Given the description of an element on the screen output the (x, y) to click on. 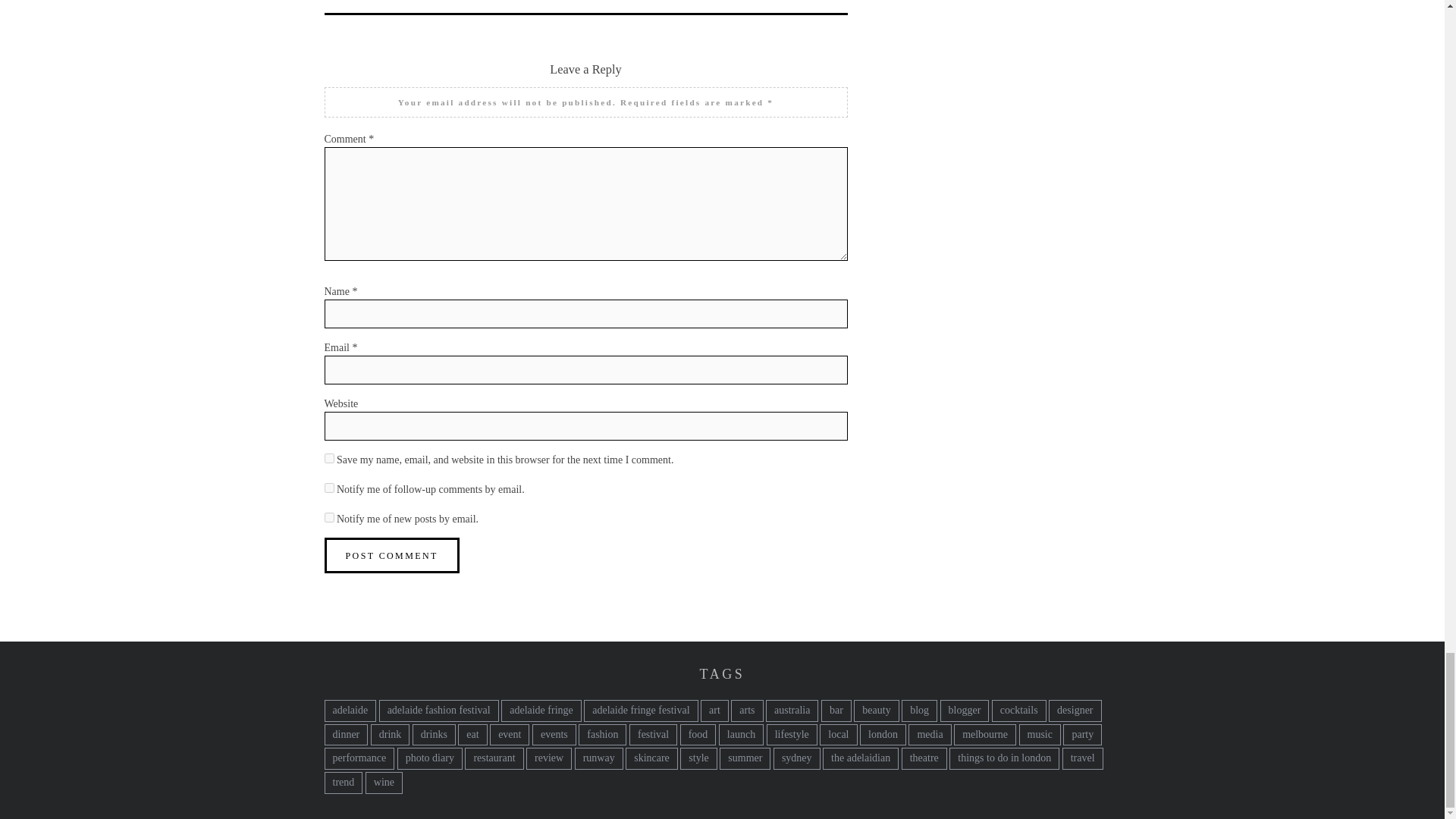
subscribe (329, 517)
Post Comment (392, 555)
subscribe (329, 488)
yes (329, 458)
